Given the description of an element on the screen output the (x, y) to click on. 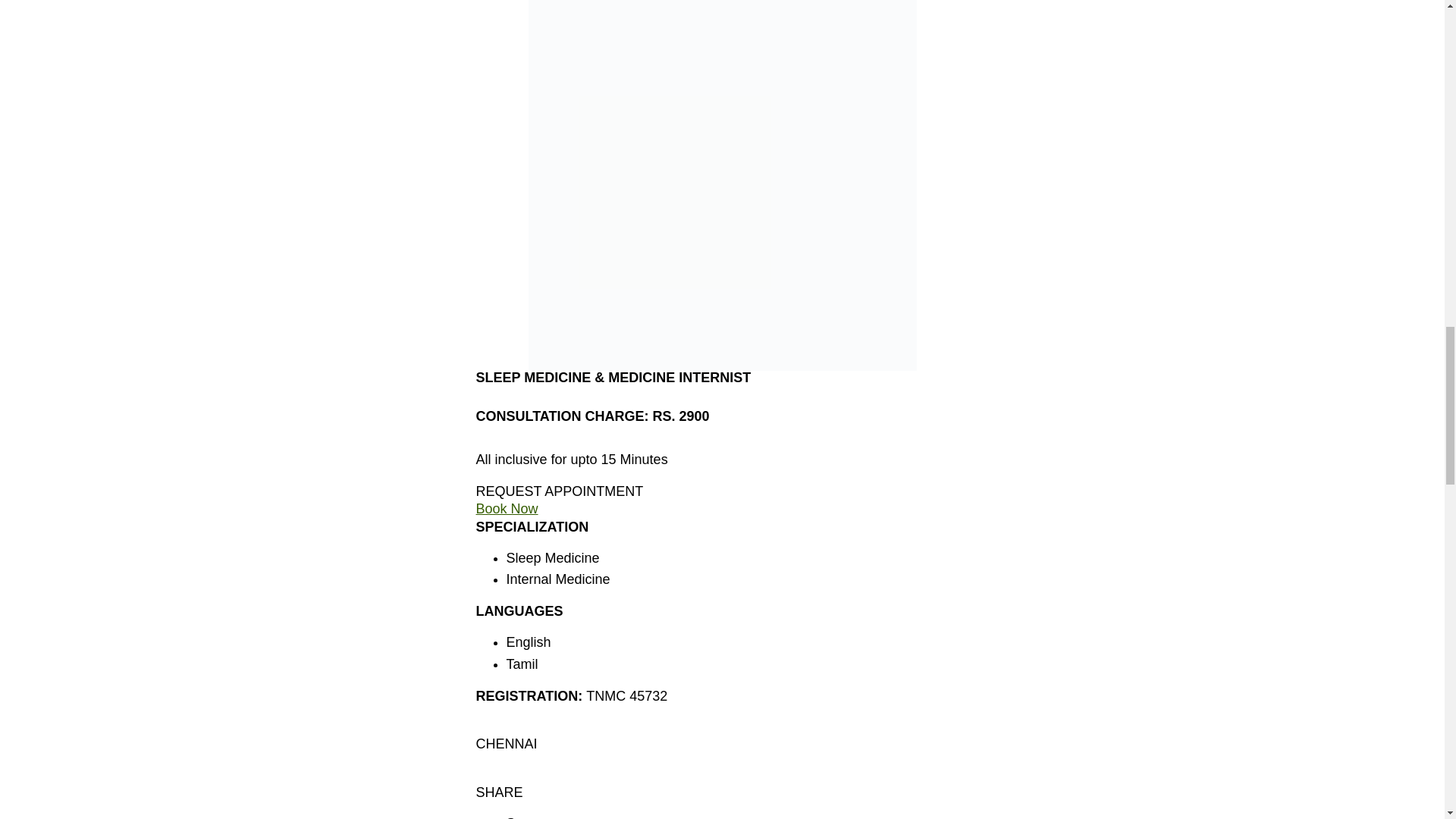
Book Now (507, 508)
